Given the description of an element on the screen output the (x, y) to click on. 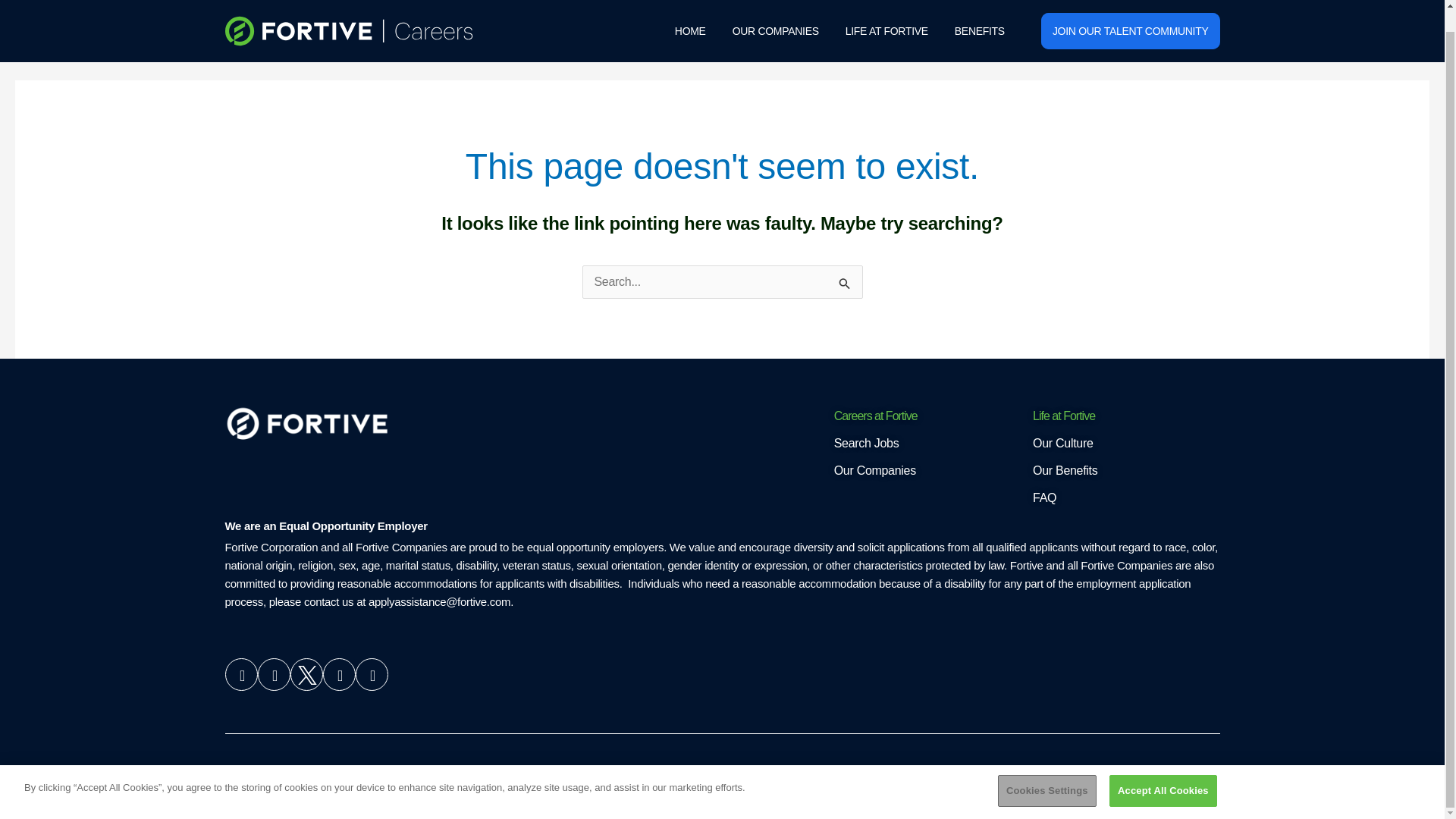
Linkedin-in (240, 674)
Our Culture (1119, 443)
BENEFITS (979, 9)
OUR COMPANIES (775, 9)
Our Benefits (1119, 470)
Youtube (273, 674)
Our Companies (921, 470)
Search Jobs (921, 443)
FAQ (1119, 497)
LIFE AT FORTIVE (887, 9)
HOME (690, 9)
JOIN OUR TALENT COMMUNITY (1130, 13)
Facebook-f (339, 674)
Instagram (371, 674)
